Given the description of an element on the screen output the (x, y) to click on. 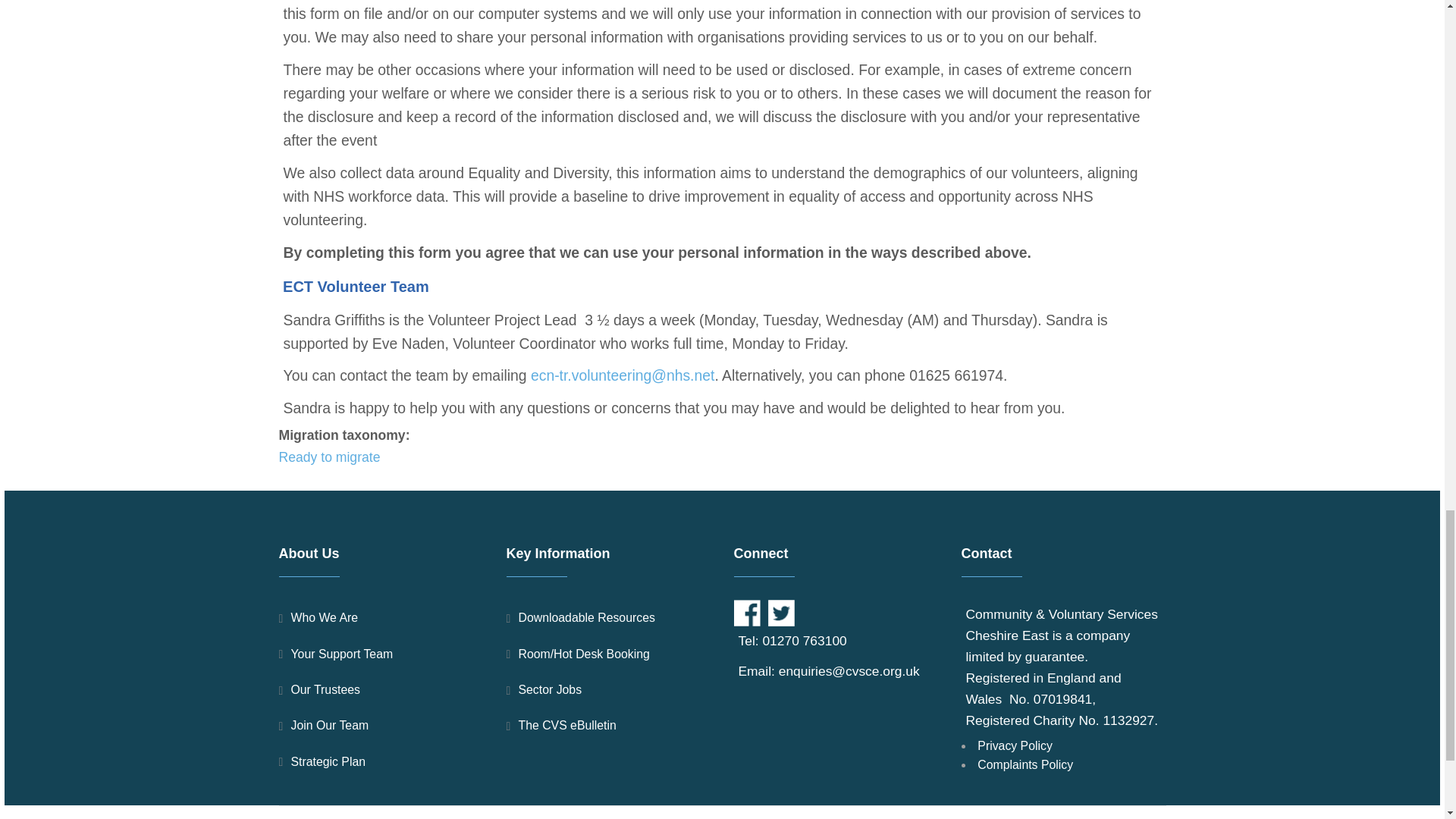
Who We Are (381, 617)
Our Trustees (381, 689)
Your Support Team (381, 653)
Ready to migrate (329, 457)
